Given the description of an element on the screen output the (x, y) to click on. 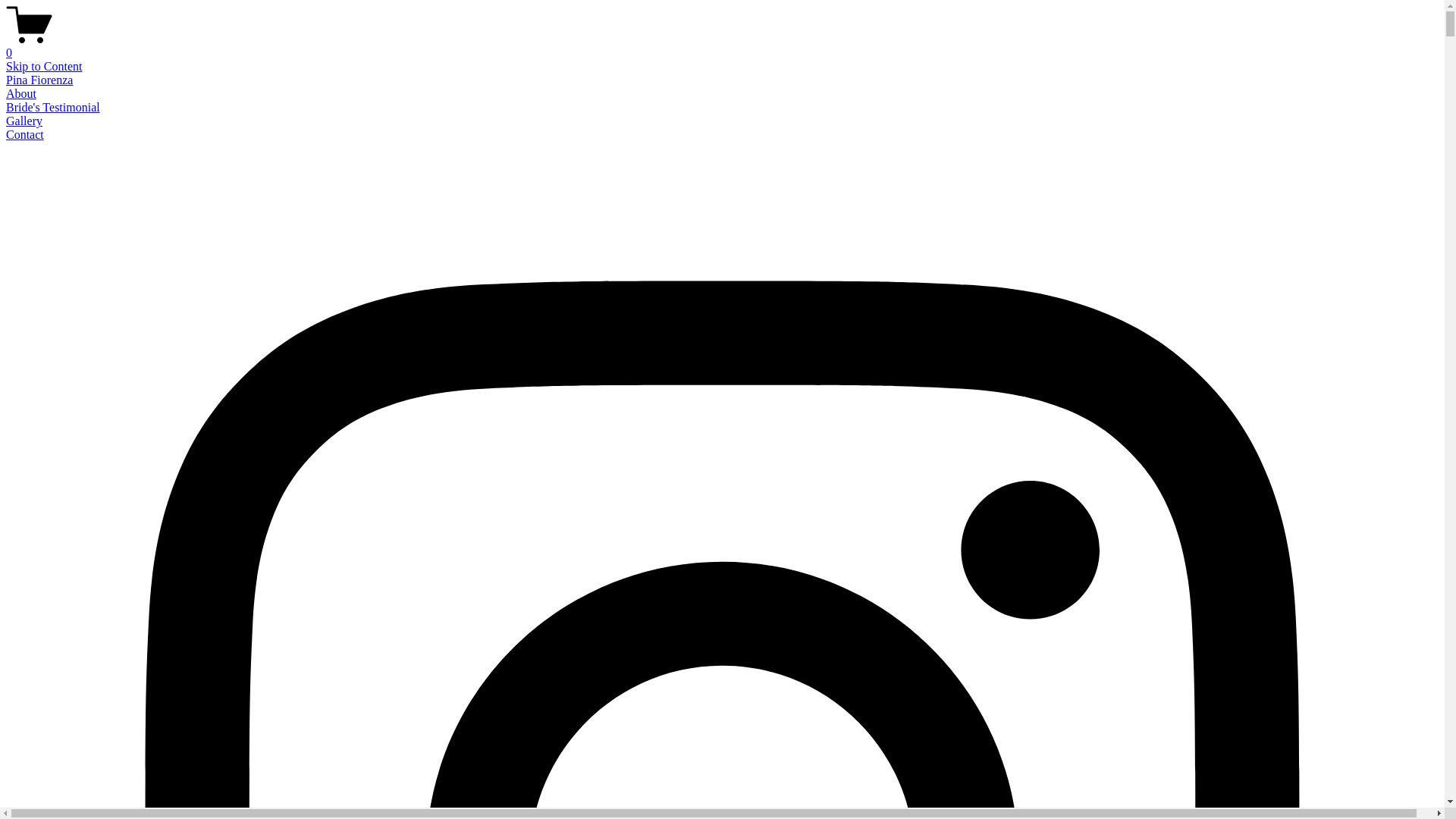
Gallery Element type: text (24, 120)
About Element type: text (21, 93)
Contact Element type: text (24, 134)
0 Element type: text (722, 45)
Pina Fiorenza Element type: text (39, 79)
Bride's Testimonial Element type: text (53, 106)
Skip to Content Element type: text (43, 65)
